Given the description of an element on the screen output the (x, y) to click on. 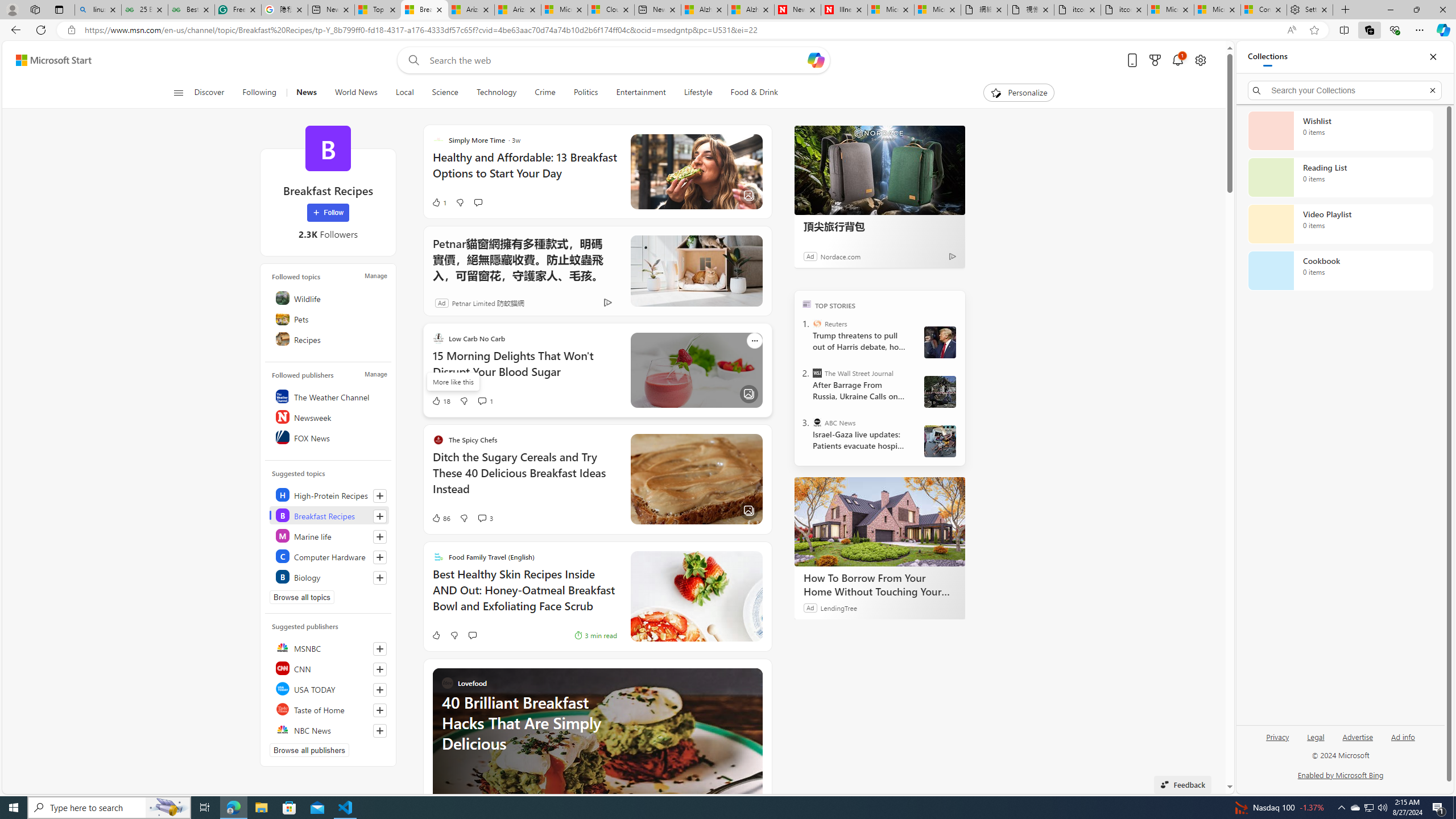
Cloud Computing Services | Microsoft Azure (610, 9)
Address and search bar (680, 29)
Follow this source (379, 730)
How To Borrow From Your Home Without Touching Your Mortgage (879, 584)
Science (444, 92)
News (306, 92)
Following (259, 92)
Skip to content (49, 59)
Personal Profile (12, 9)
Like (435, 635)
Advertise (1357, 736)
